Given the description of an element on the screen output the (x, y) to click on. 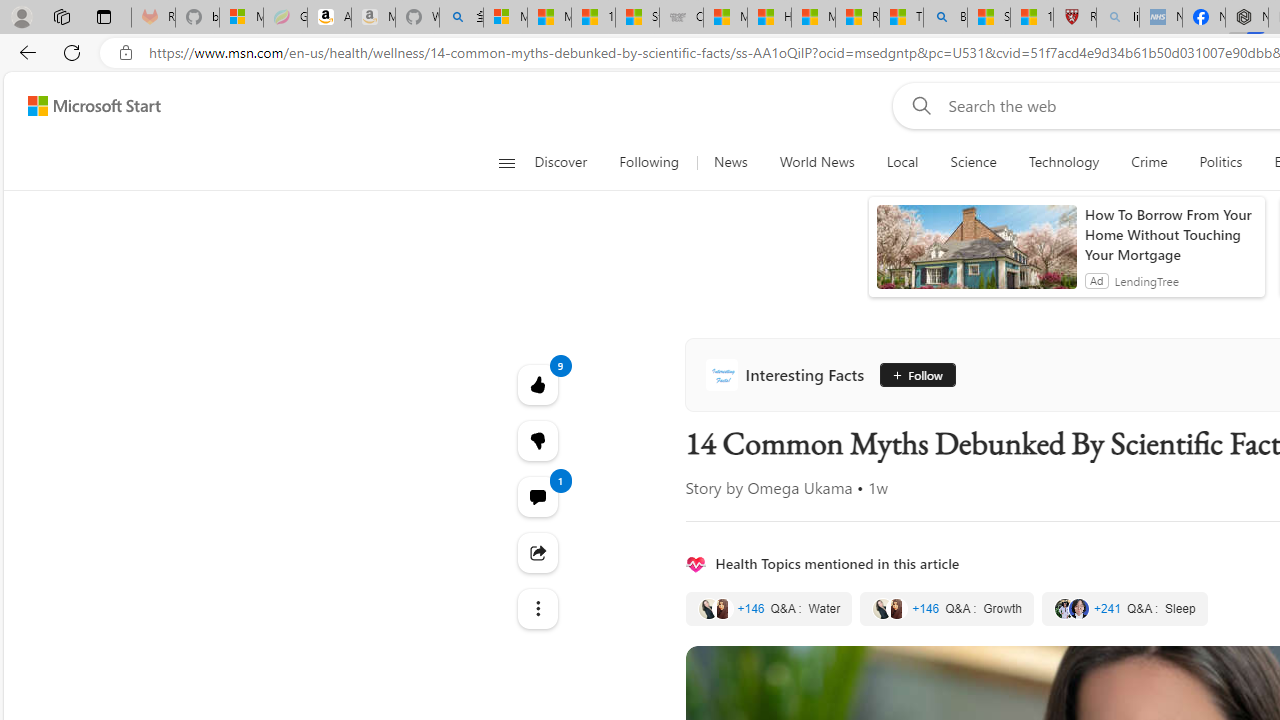
Growth (947, 608)
LendingTree (1145, 280)
Crime (1149, 162)
Follow (909, 374)
anim-content (975, 255)
